Given the description of an element on the screen output the (x, y) to click on. 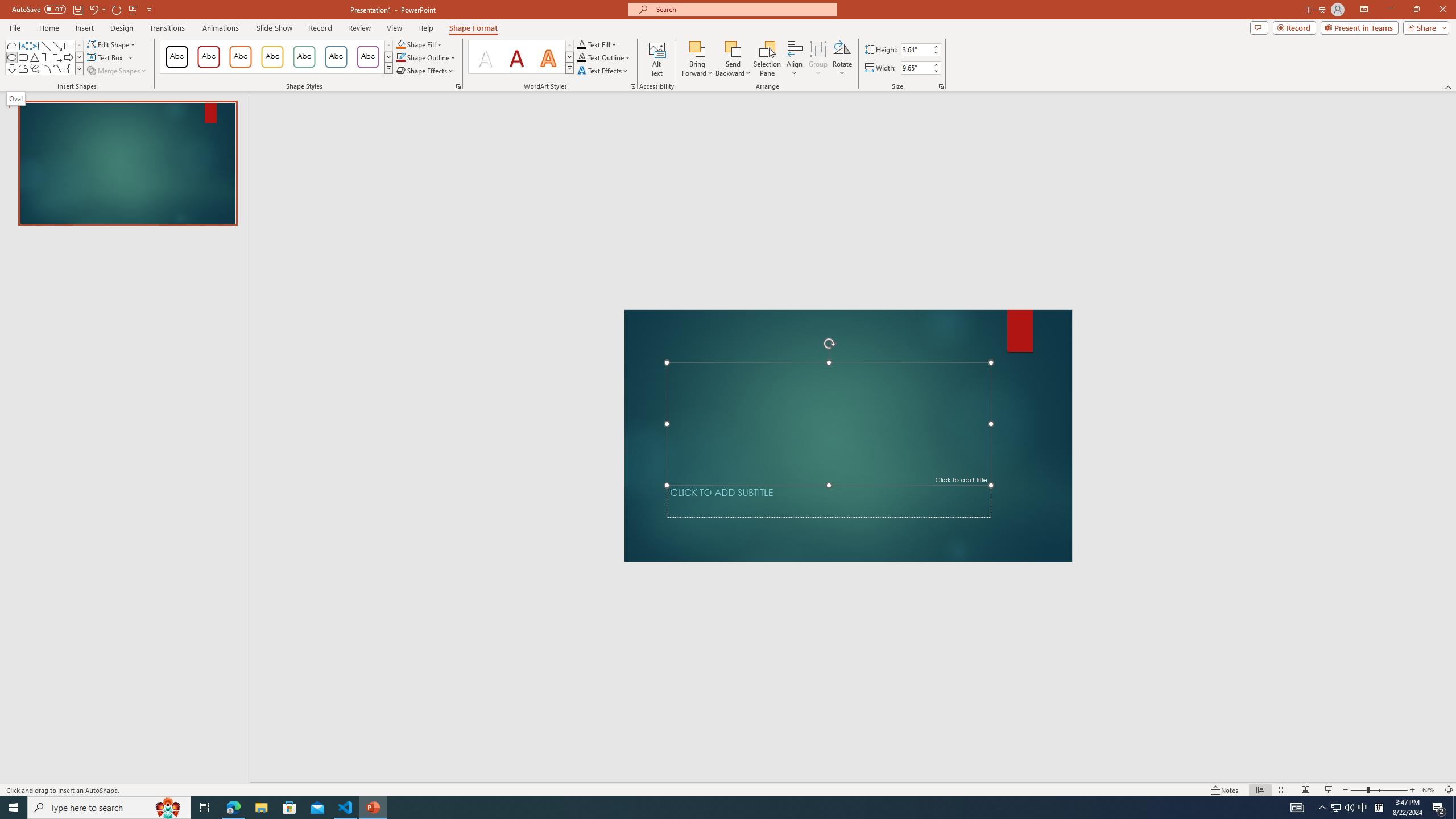
Arrow: Right (68, 57)
Rectangle (68, 45)
Shape Width (915, 67)
Shape Format (473, 28)
Rectangle: Top Corners Snipped (11, 45)
Title TextBox (828, 423)
More (935, 64)
Draw Horizontal Text Box (105, 56)
Shape Fill Orange, Accent 2 (400, 44)
Row up (568, 45)
Arc (46, 68)
